Given the description of an element on the screen output the (x, y) to click on. 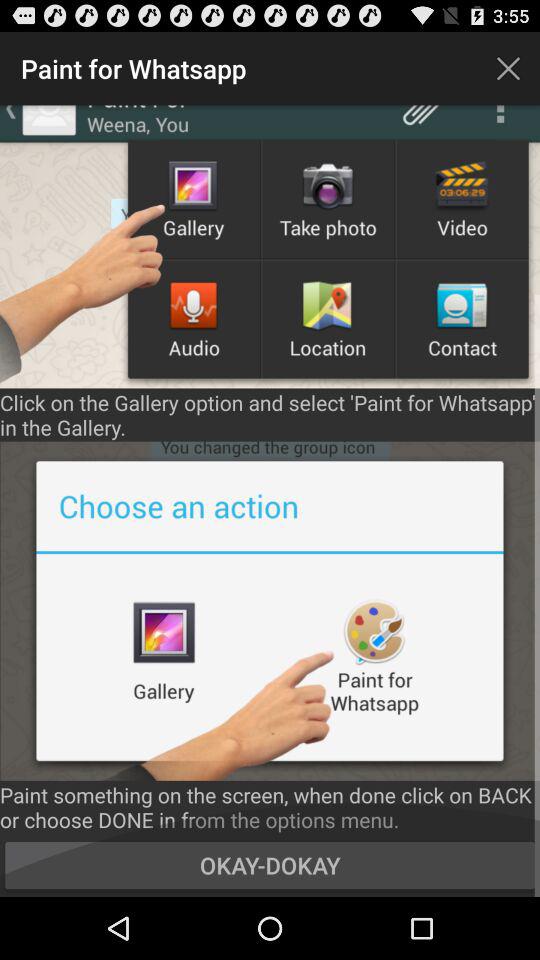
choose icon to the right of the paint for whatsapp icon (508, 67)
